Given the description of an element on the screen output the (x, y) to click on. 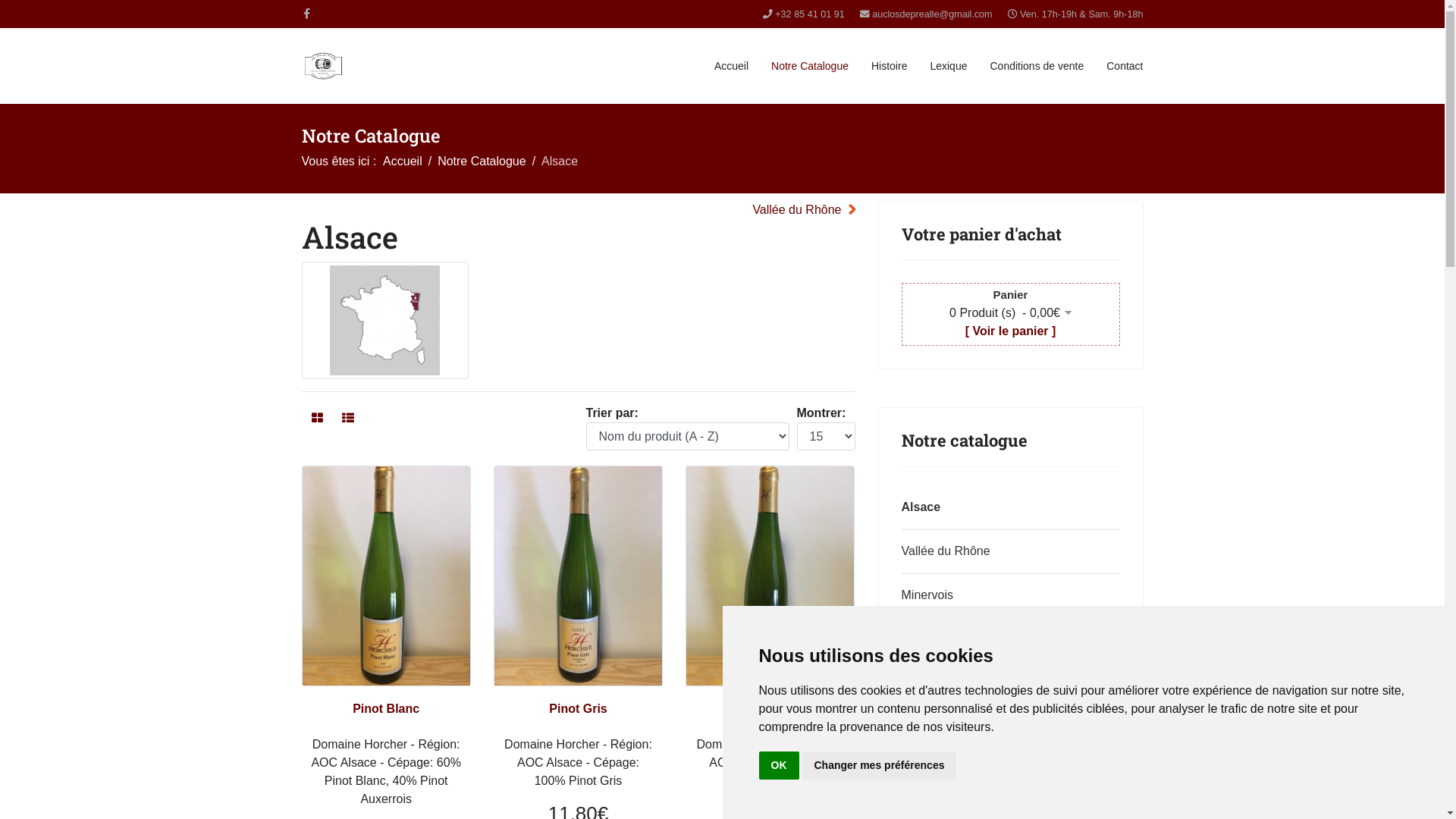
Pinot Gris Element type: hover (578, 575)
Histoire Element type: text (888, 65)
Bordeaux Element type: text (1006, 771)
Riesling Element type: text (769, 708)
Alsace Element type: hover (384, 320)
auclosdeprealle@gmail.com Element type: text (931, 14)
OK Element type: text (778, 765)
Bourgogne Element type: text (1006, 727)
Pinot Gris Element type: text (577, 708)
Notre Catalogue Element type: text (809, 65)
Lexique Element type: text (948, 65)
Riesling Element type: hover (769, 575)
Pinot Blanc Element type: hover (385, 575)
Champagnes Element type: text (1006, 639)
Contact Element type: text (1124, 65)
[ Voir le panier ] Element type: text (1010, 330)
Alsace Element type: text (1006, 507)
Accueil Element type: text (730, 65)
Accueil Element type: text (402, 160)
Pinot Blanc Element type: text (385, 708)
Minervois Element type: text (1006, 595)
Notre Catalogue Element type: text (481, 160)
+32 85 41 01 91 Element type: text (809, 14)
Conditions de vente Element type: text (1036, 65)
